Given the description of an element on the screen output the (x, y) to click on. 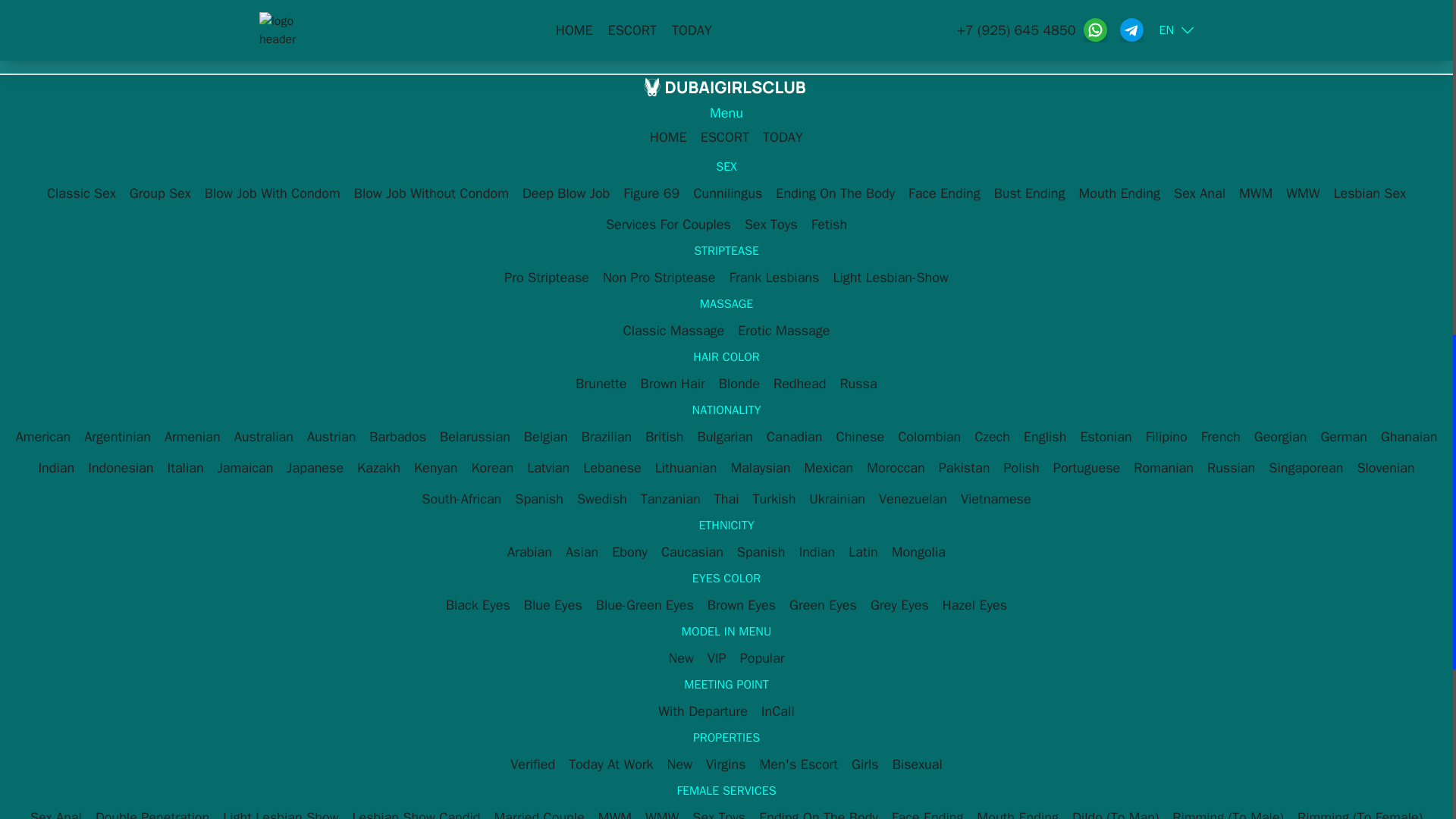
Fetish (829, 224)
Blow Job Without Condom (431, 193)
Brown Hair (672, 383)
Sex Toys (770, 224)
TODAY (783, 136)
HOME (668, 136)
Classic Sex (81, 193)
Classic Massage (674, 329)
ESCORT (724, 136)
Non Pro Striptease (658, 277)
Cunnilingus (727, 193)
Deep Blow Job (565, 193)
Face Ending (944, 193)
Sex Anal (1199, 193)
Frank Lesbians (773, 277)
